Given the description of an element on the screen output the (x, y) to click on. 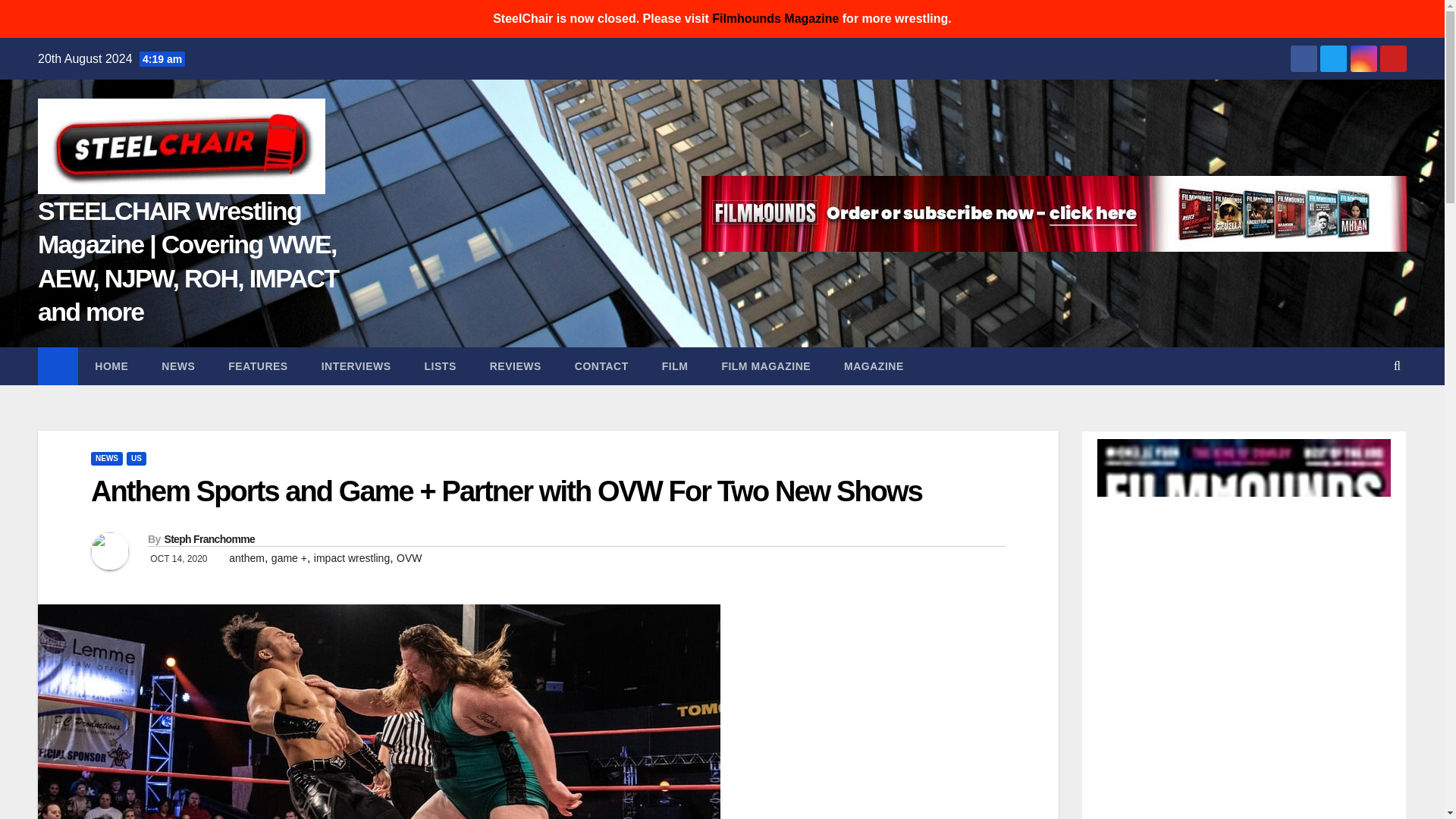
Filmhounds Magazine (774, 18)
NEWS (106, 459)
NEWS (177, 365)
HOME (111, 365)
FILM (674, 365)
FEATURES (257, 365)
LISTS (440, 365)
impact wrestling (352, 558)
US (136, 459)
anthem (246, 558)
